Given the description of an element on the screen output the (x, y) to click on. 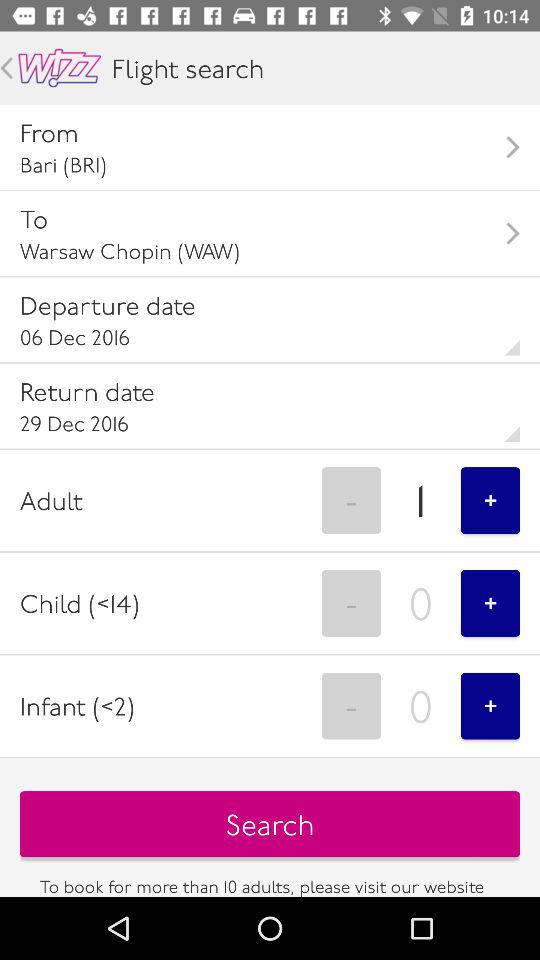
jump to + icon (490, 705)
